Given the description of an element on the screen output the (x, y) to click on. 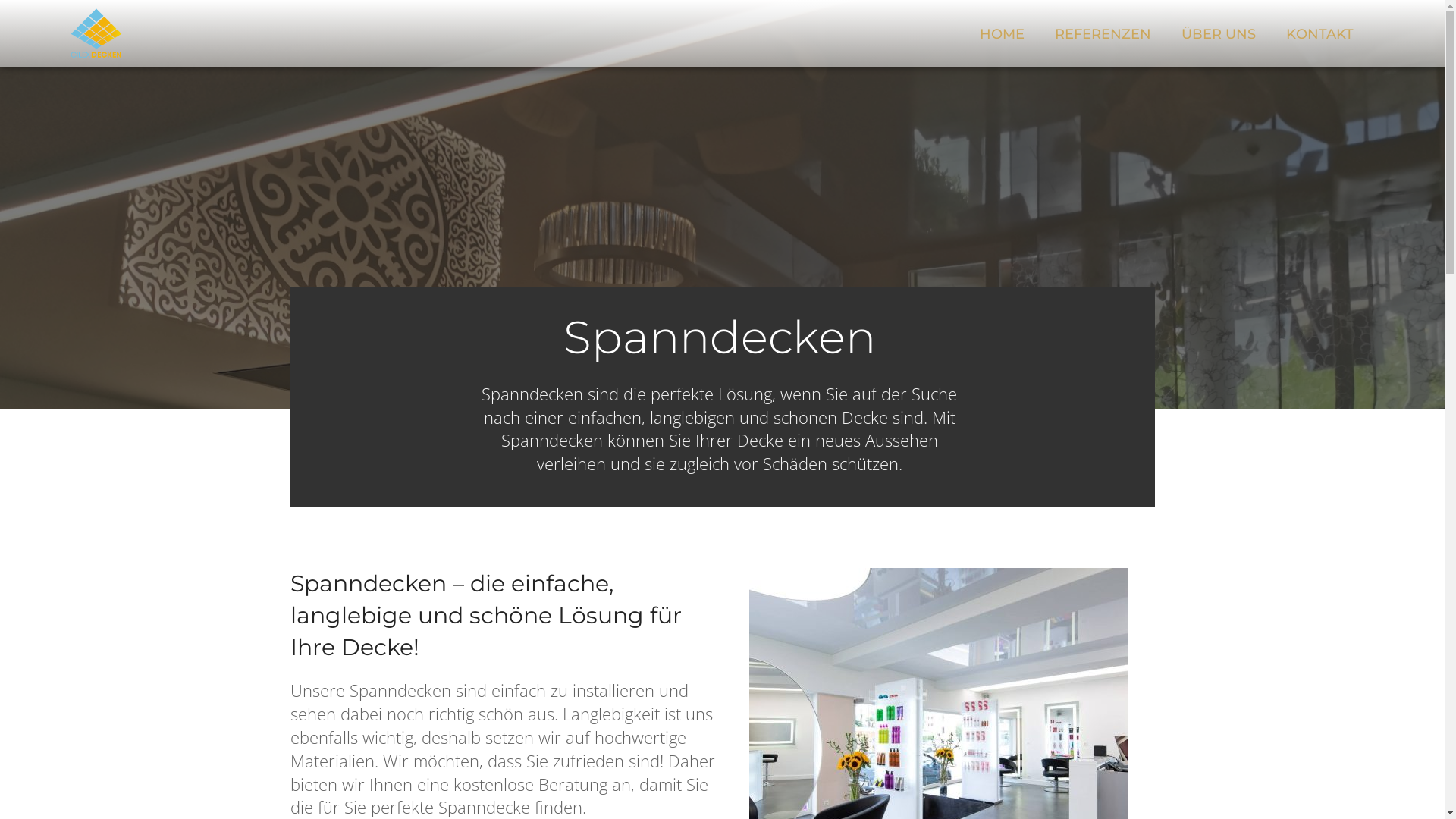
HOME Element type: text (1001, 33)
REFERENZEN Element type: text (1102, 33)
KONTAKT Element type: text (1319, 33)
